Given the description of an element on the screen output the (x, y) to click on. 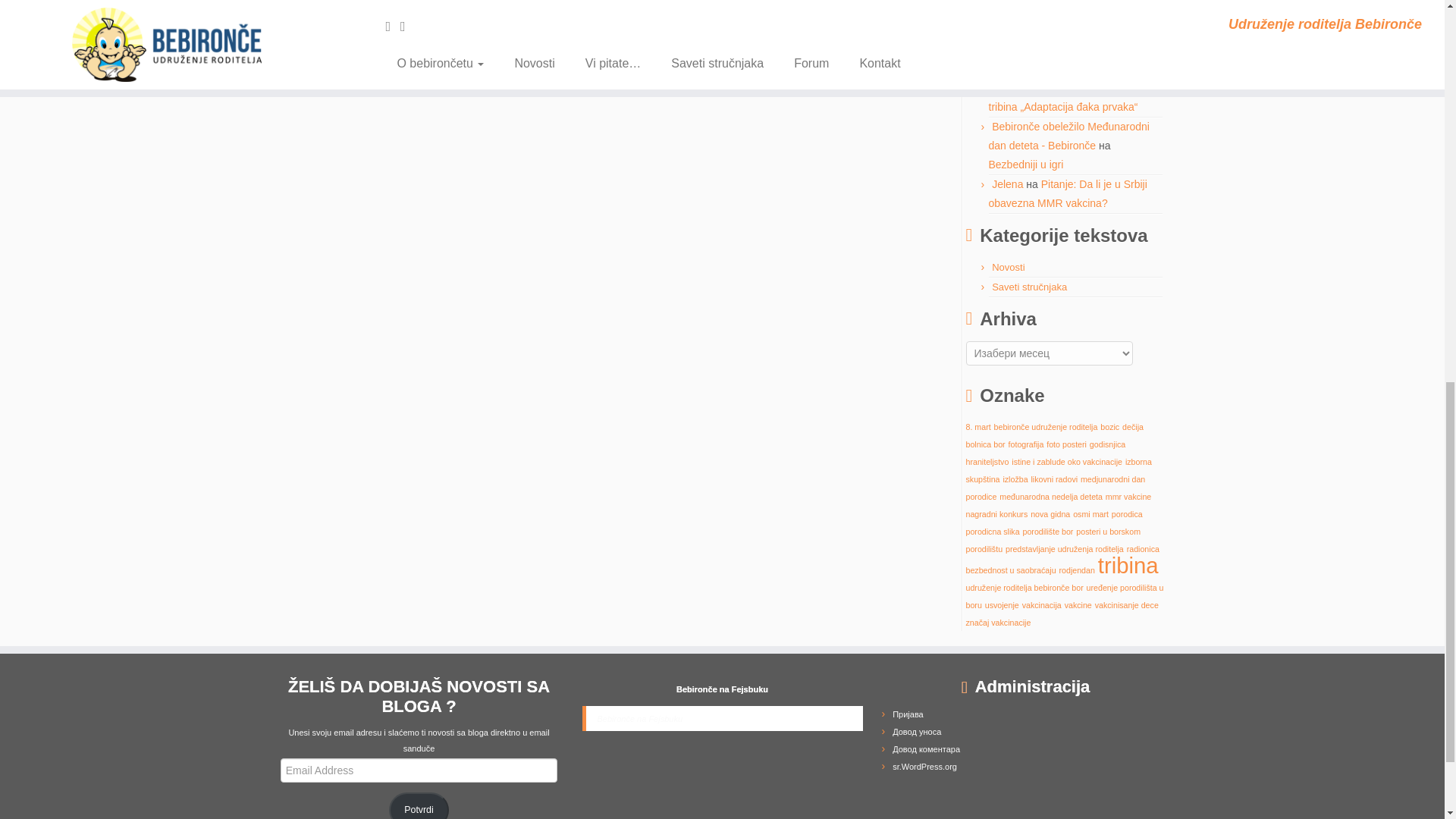
Jelena (1007, 184)
Novosti (1008, 266)
Bezbedniji u igri (1026, 164)
Pitanje: Da li je u Srbiji obavezna MMR vakcina? (1067, 193)
